Given the description of an element on the screen output the (x, y) to click on. 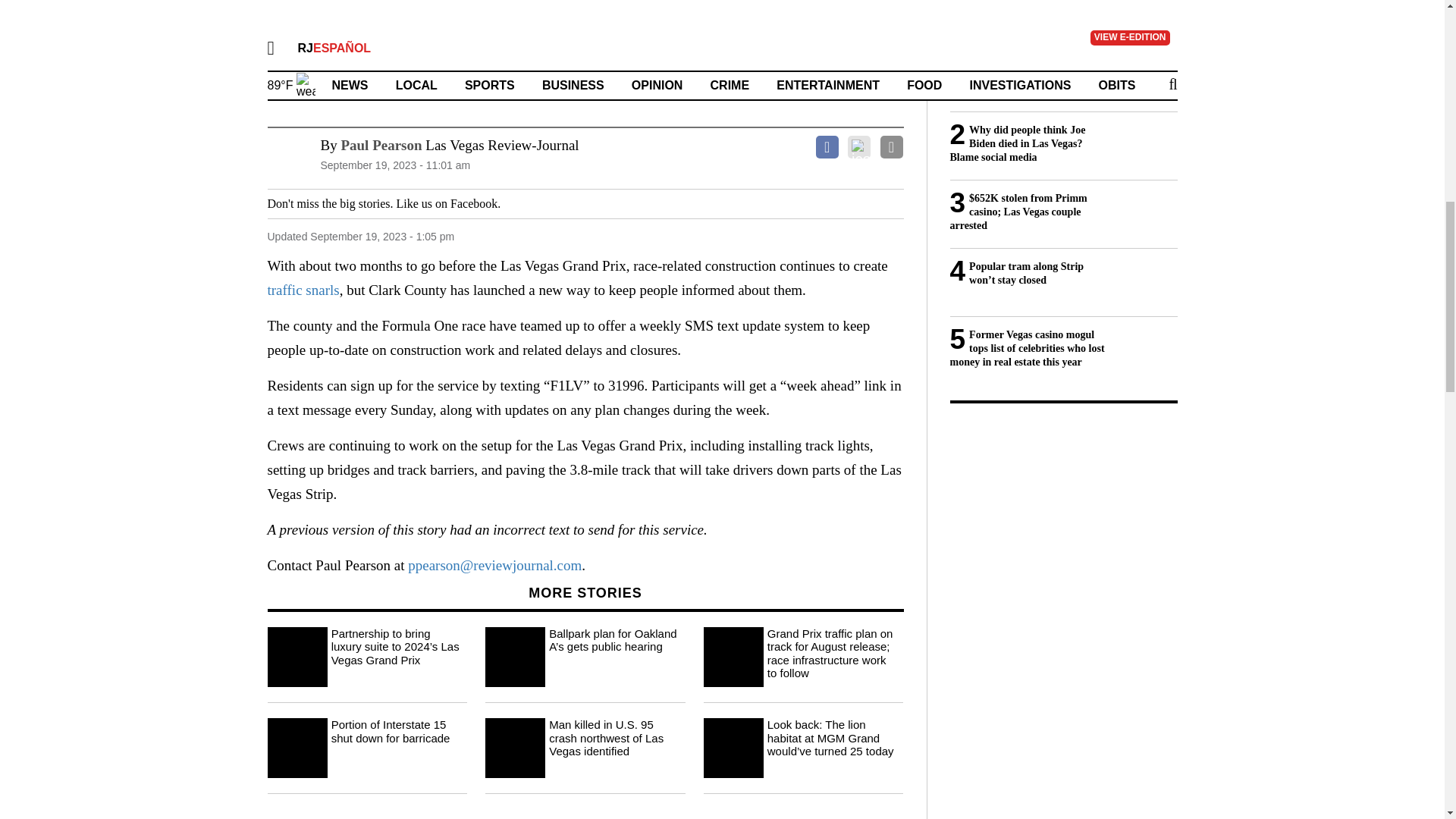
facebook like widget (557, 203)
